Given the description of an element on the screen output the (x, y) to click on. 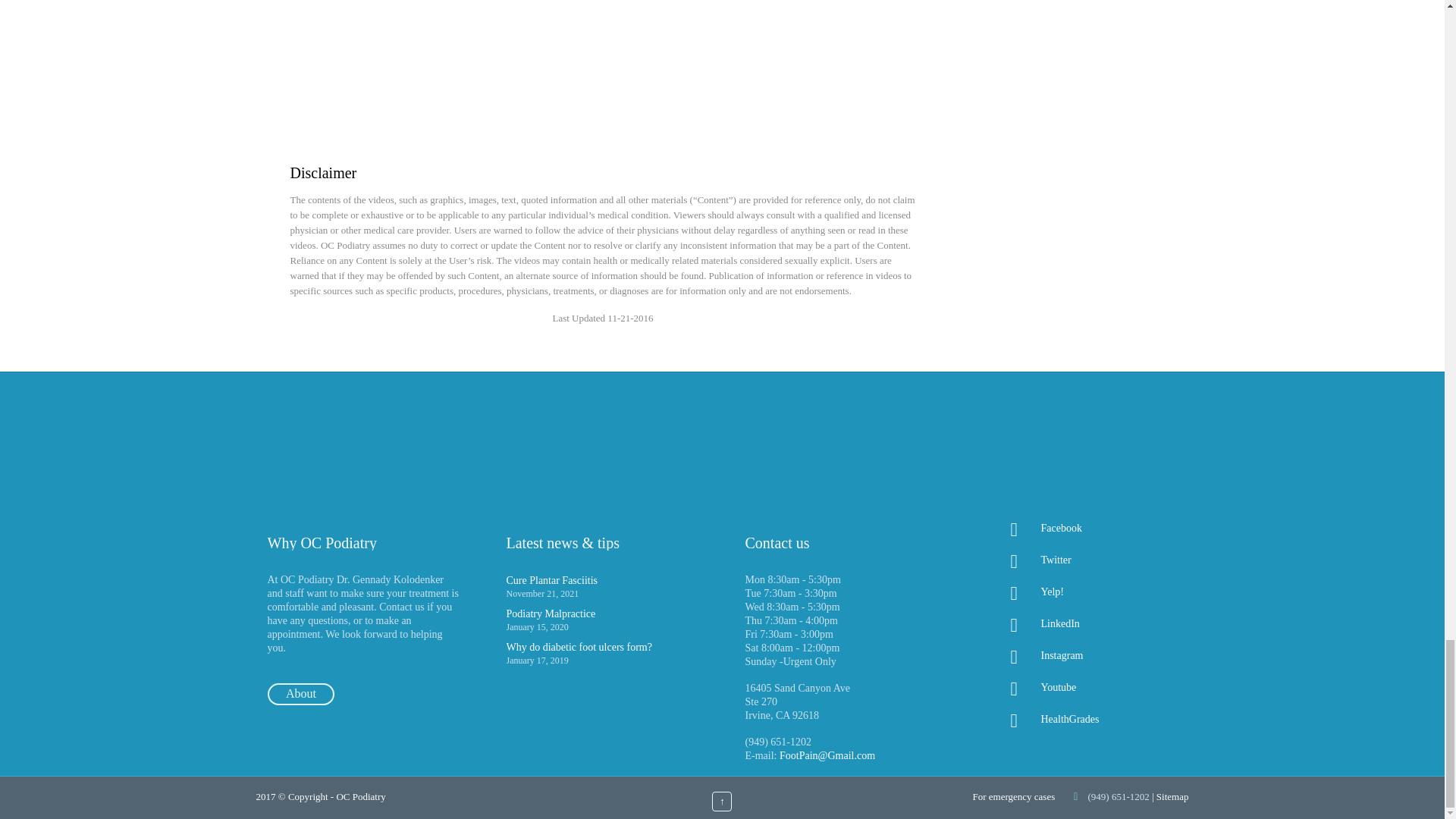
Cure Plantar Fasciitis (552, 580)
Facebook (1080, 528)
Podiatry Malpractice (550, 613)
Why do diabetic foot ulcers form? (579, 646)
Twitter (1080, 559)
